Given the description of an element on the screen output the (x, y) to click on. 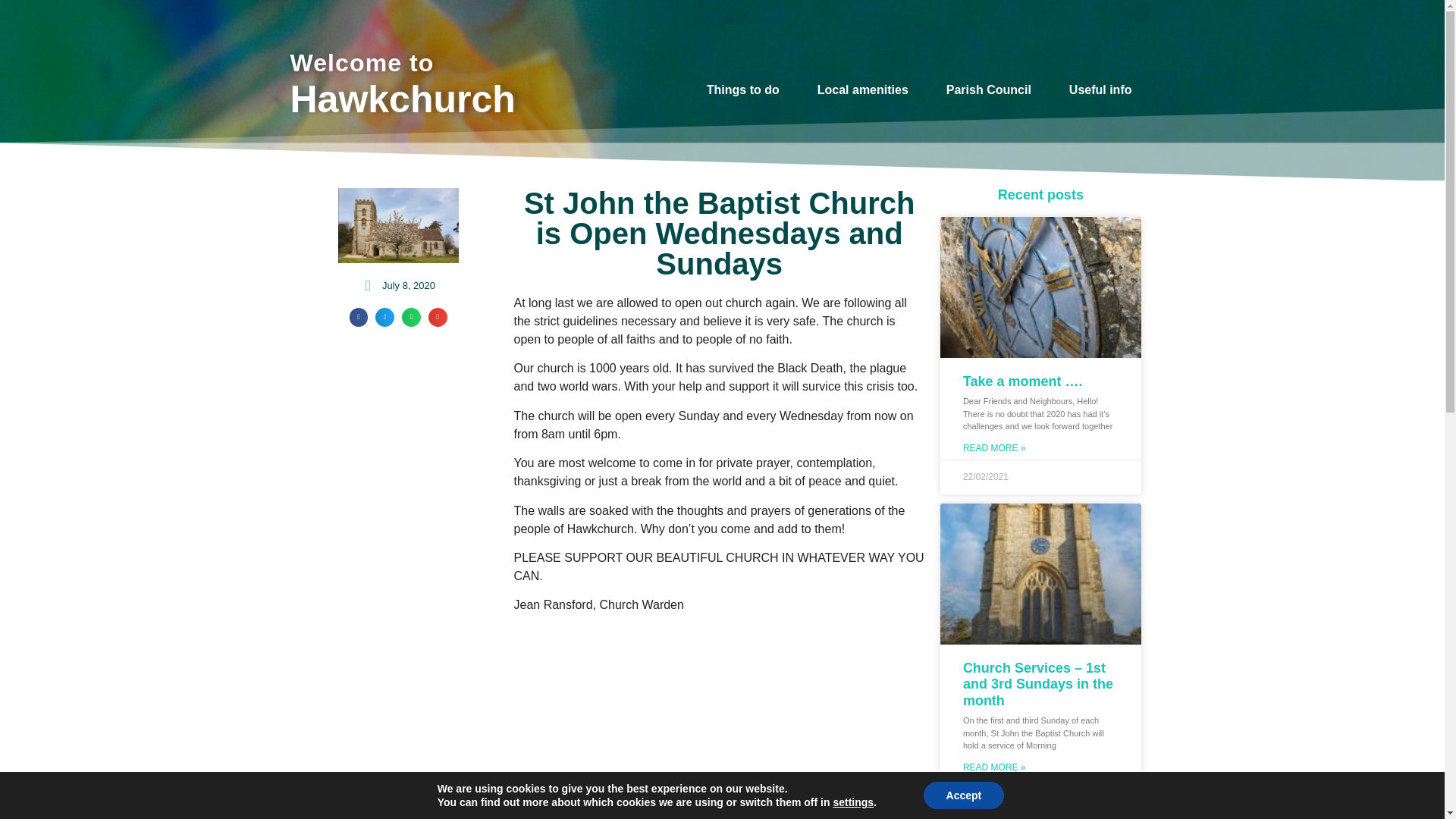
Useful info (1104, 89)
Hawkchurch (402, 98)
Things to do (746, 89)
Parish Council (992, 89)
Local amenities (866, 89)
